Given the description of an element on the screen output the (x, y) to click on. 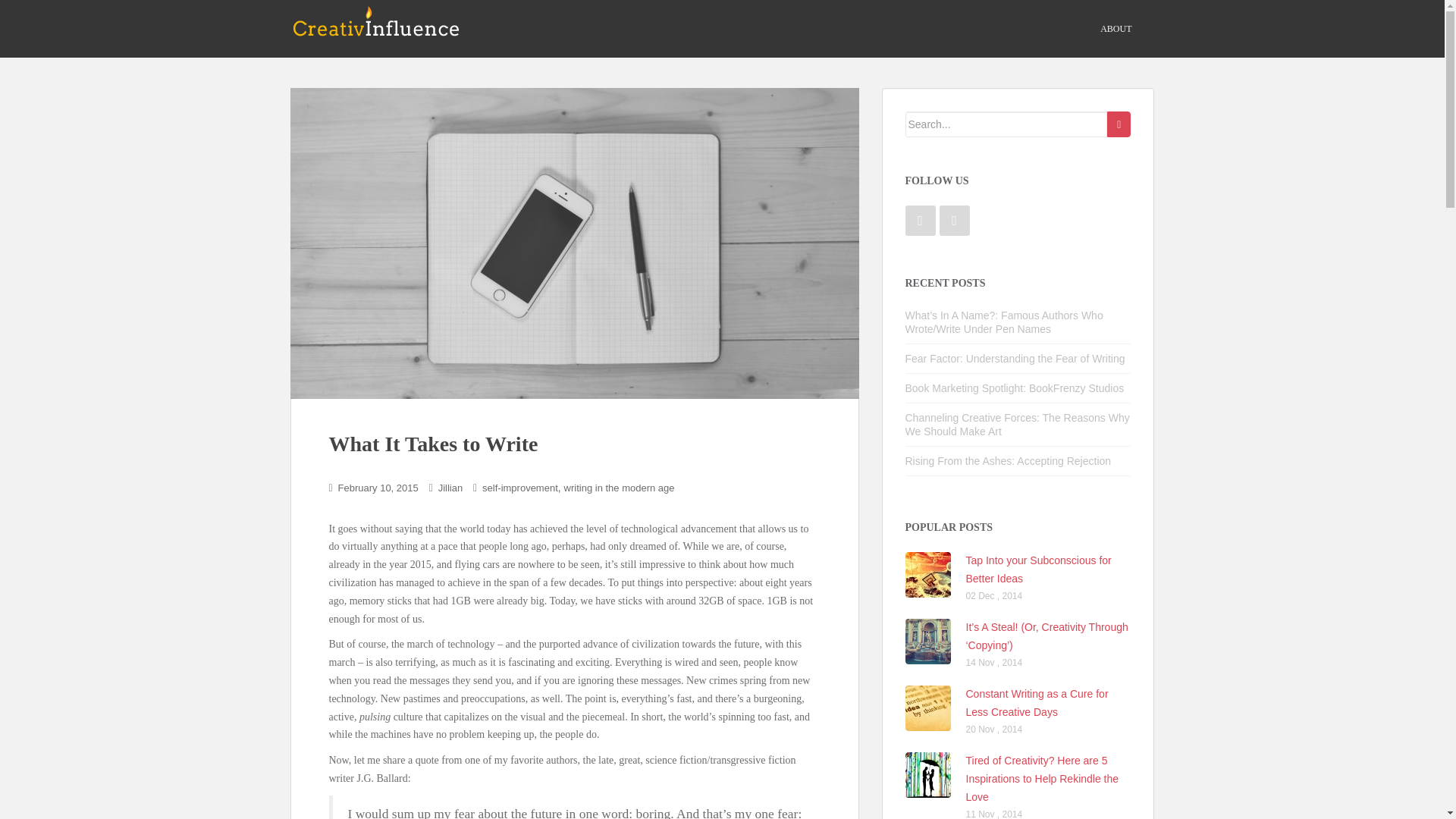
Follow us on Twitter (954, 220)
Go (1118, 124)
Jillian (450, 487)
Post Comment (35, 9)
ABOUT (1115, 28)
Follow us on Facebok (920, 220)
self-improvement (519, 487)
February 10, 2015 (378, 487)
About (1115, 28)
writing in the modern age (619, 487)
Fear Factor: Understanding the Fear of Writing (1015, 358)
Book Marketing Spotlight: BookFrenzy Studios (1014, 387)
